Given the description of an element on the screen output the (x, y) to click on. 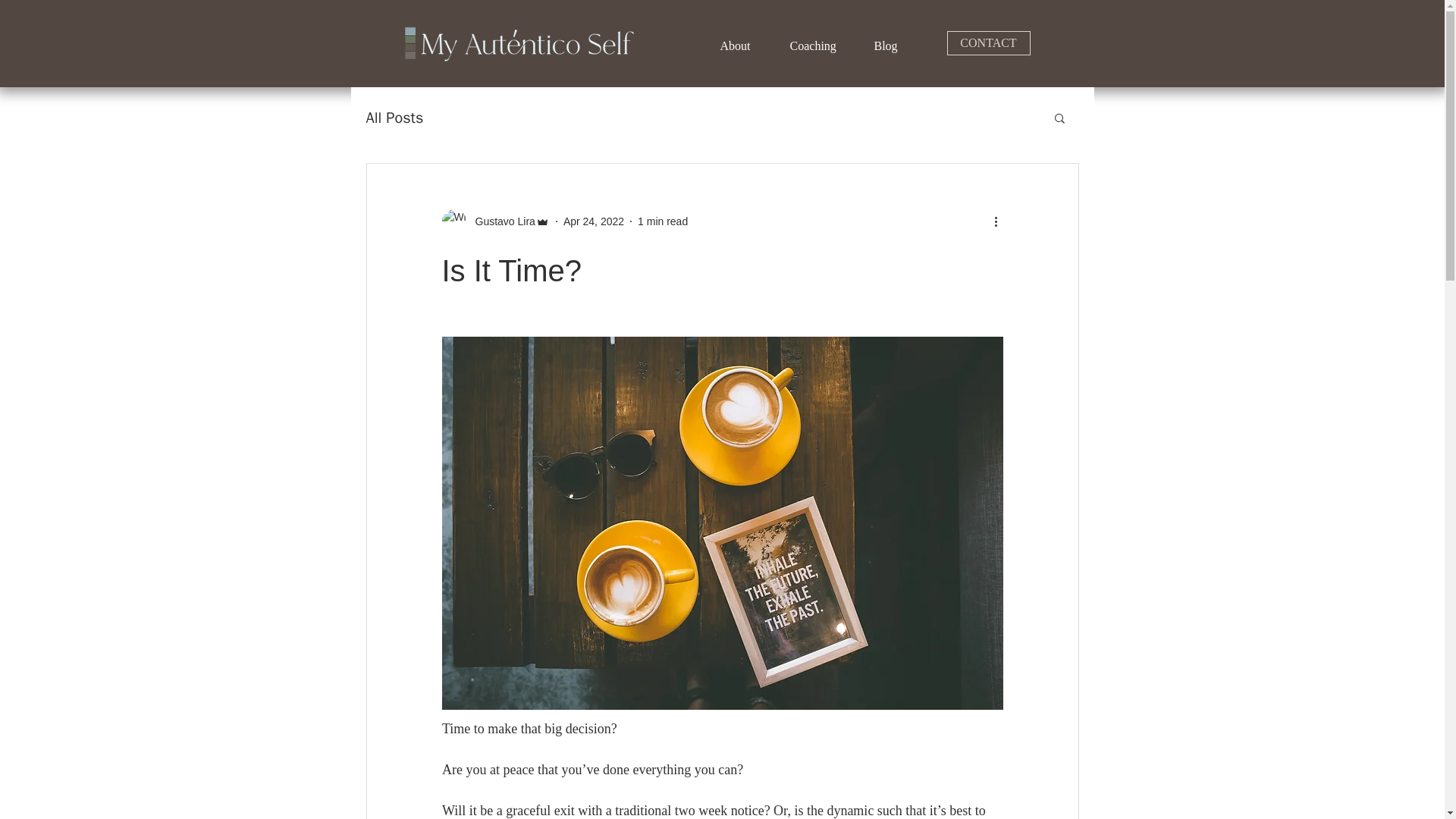
Apr 24, 2022 (593, 221)
Gustavo Lira (494, 221)
Gustavo Lira (499, 221)
1 min read (662, 221)
CONTACT (987, 43)
Blog (893, 45)
All Posts (394, 117)
